Given the description of an element on the screen output the (x, y) to click on. 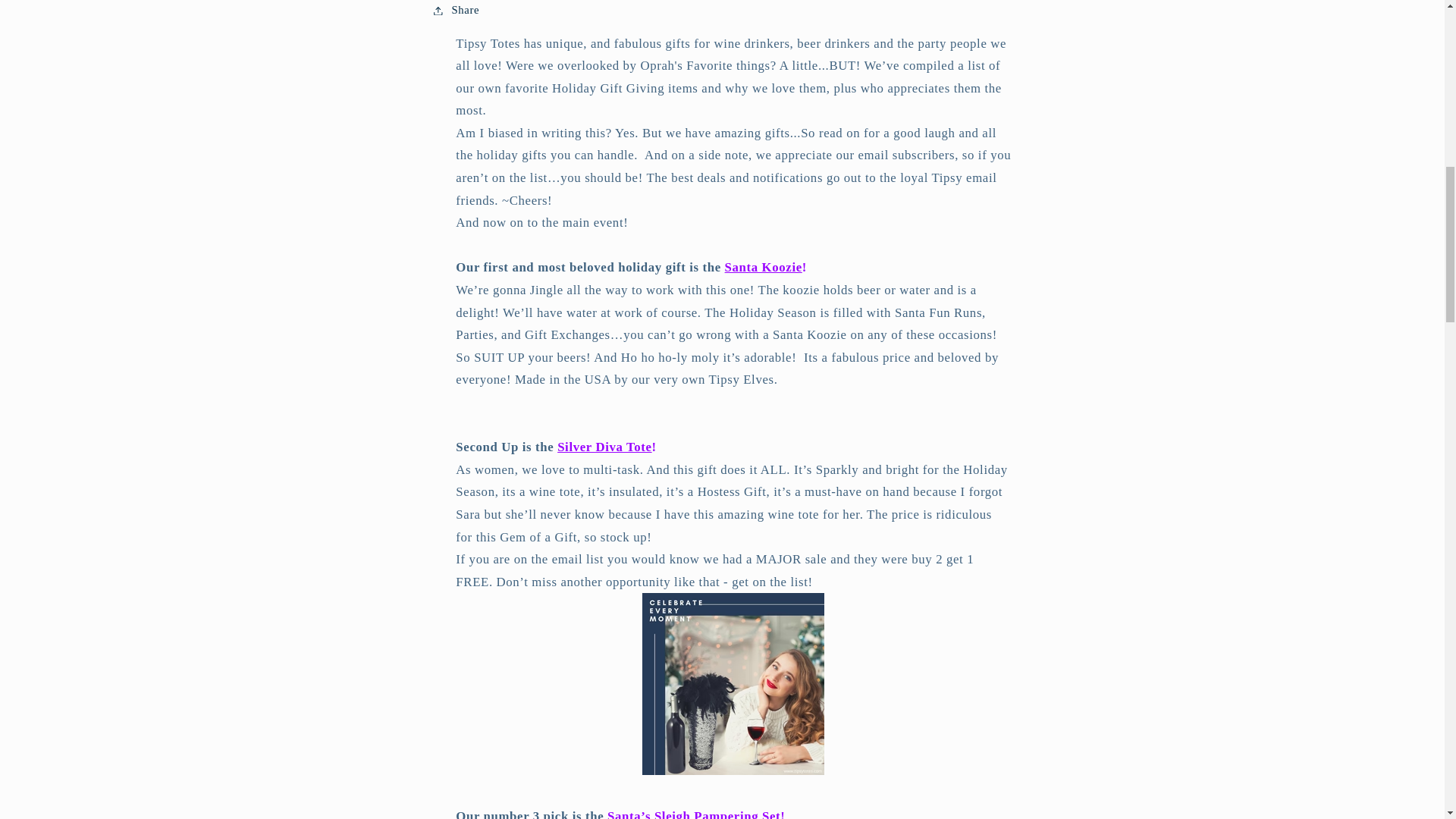
Best Holiday Gift - The Santa Koozie (763, 267)
The Dive Tote makes a perfect Holiday Gift (733, 770)
Holiday Gift Pampering Set for Her (693, 814)
Silver Sequin Diva Tote- perfect gift for the Holidays (603, 446)
